Given the description of an element on the screen output the (x, y) to click on. 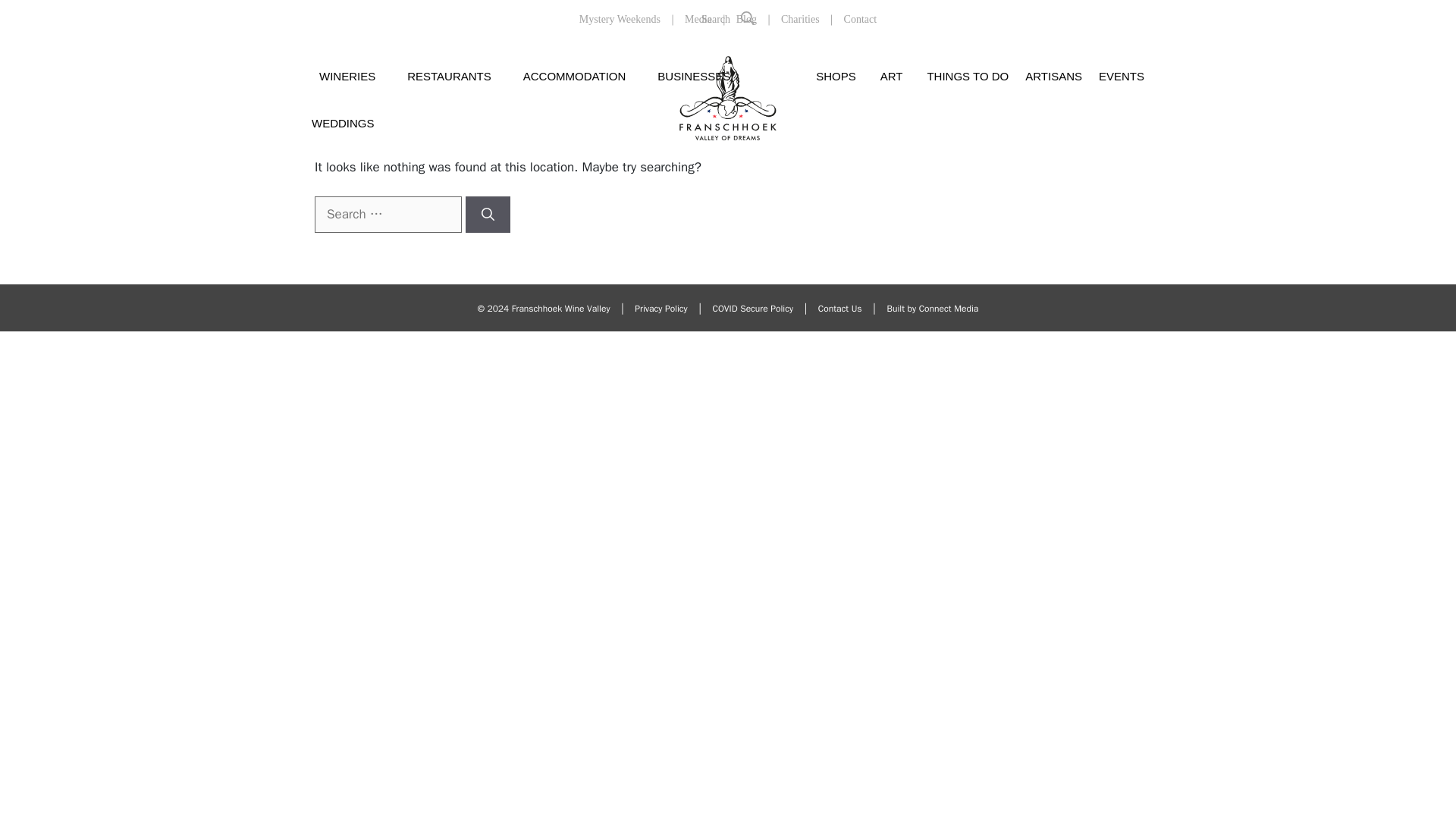
COVID Secure Policy (753, 308)
Contact Us (839, 308)
EVENTS (1121, 76)
Media (697, 19)
Built by Connect Media (932, 308)
BUSINESSES (693, 76)
Blog (746, 19)
Search for: (387, 214)
Contact (860, 19)
Mystery Weekends (620, 19)
